Given the description of an element on the screen output the (x, y) to click on. 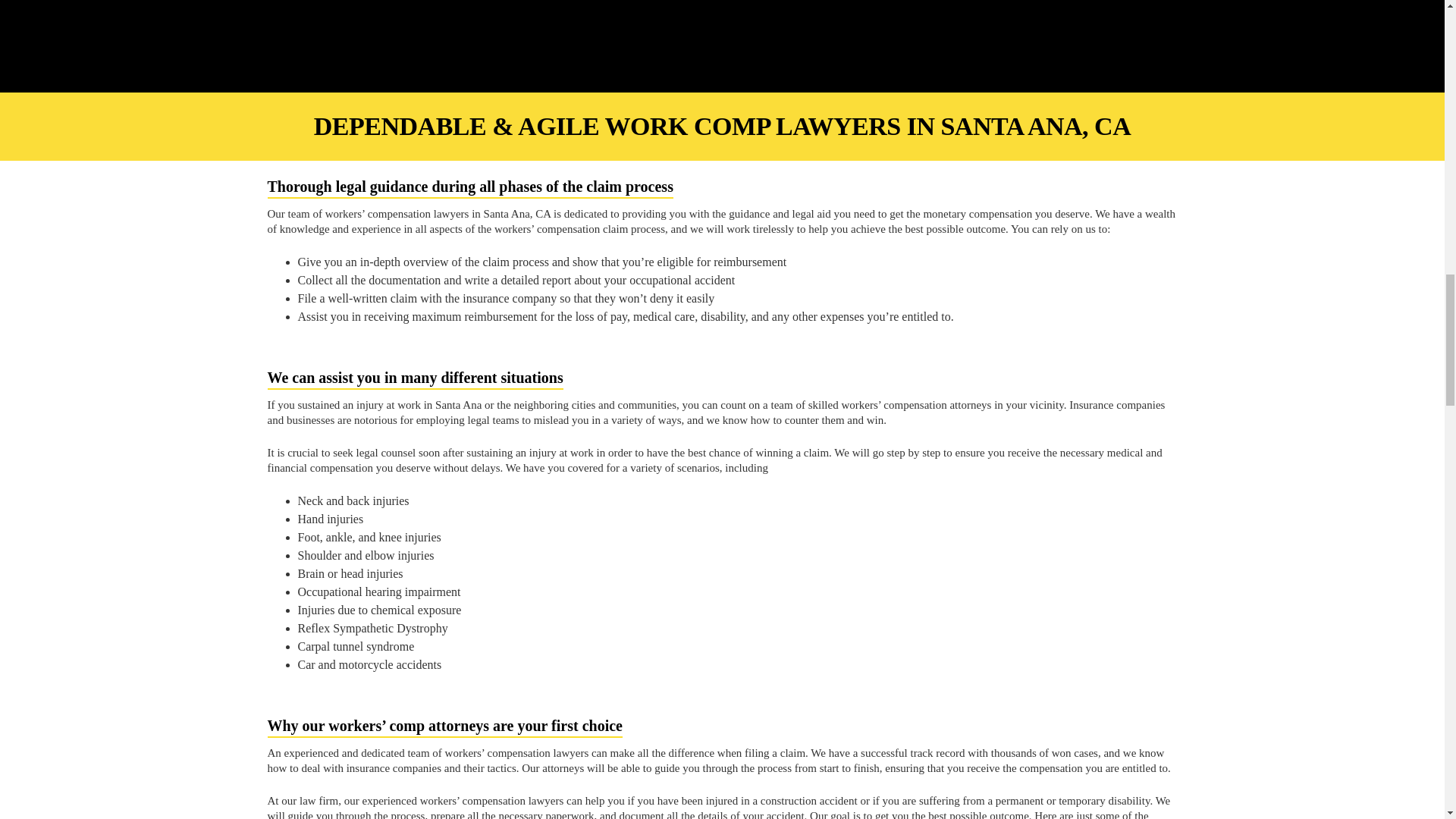
YouTube player (721, 27)
